Given the description of an element on the screen output the (x, y) to click on. 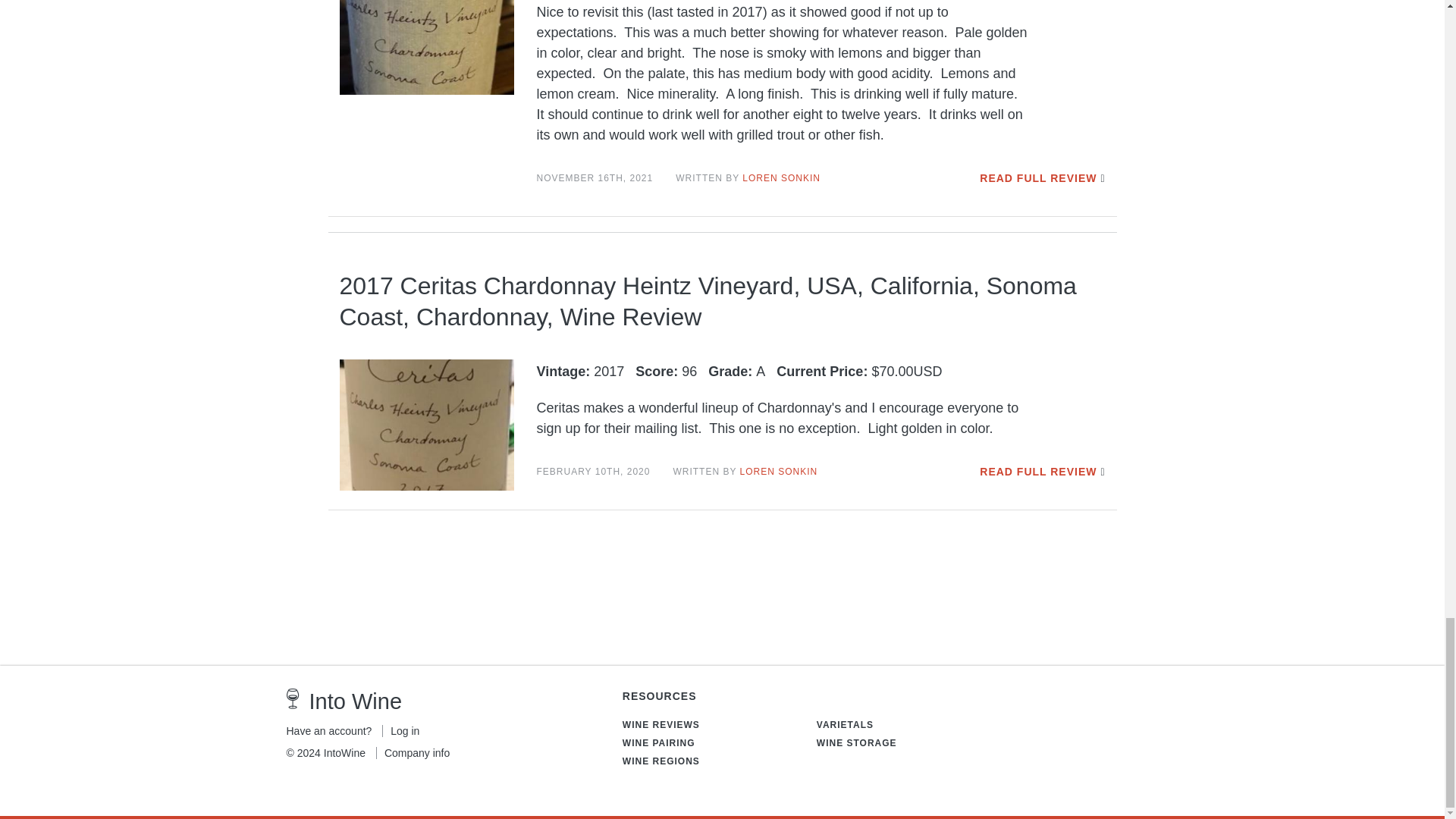
LOREN SONKIN (778, 471)
LOREN SONKIN (781, 177)
READ FULL REVIEW (1037, 177)
Into Wine (355, 701)
Log in (400, 730)
View user profile. (781, 177)
View user profile. (778, 471)
READ FULL REVIEW (1037, 471)
